Given the description of an element on the screen output the (x, y) to click on. 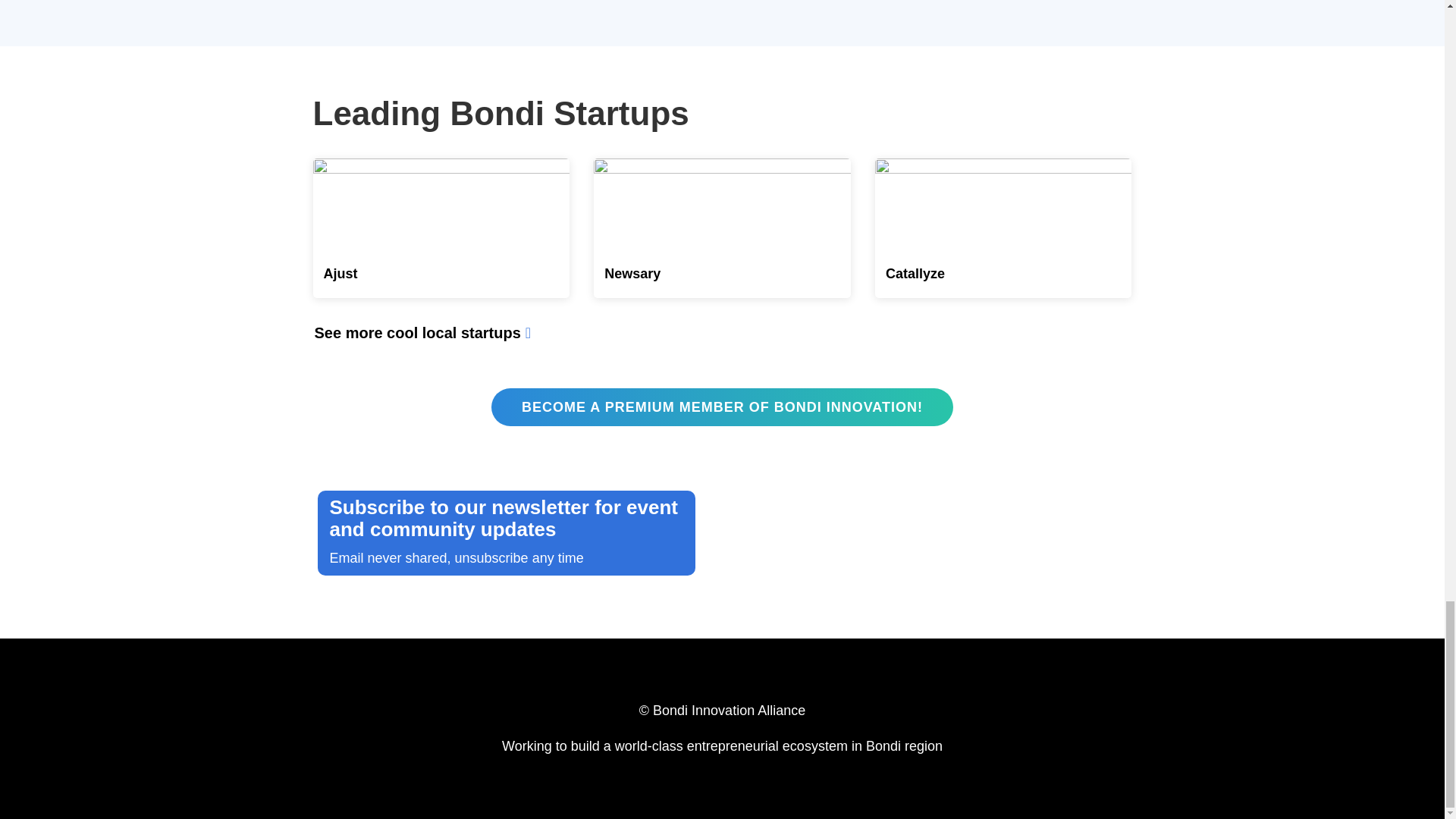
BECOME A PREMIUM MEMBER OF BONDI INNOVATION! (722, 407)
Bondi-Innovation-Davud-Hayes-image-members (722, 204)
See more cool local startups (432, 332)
Bondi-Innovation-Diego-Ribeiro-image-members (1003, 204)
